Given the description of an element on the screen output the (x, y) to click on. 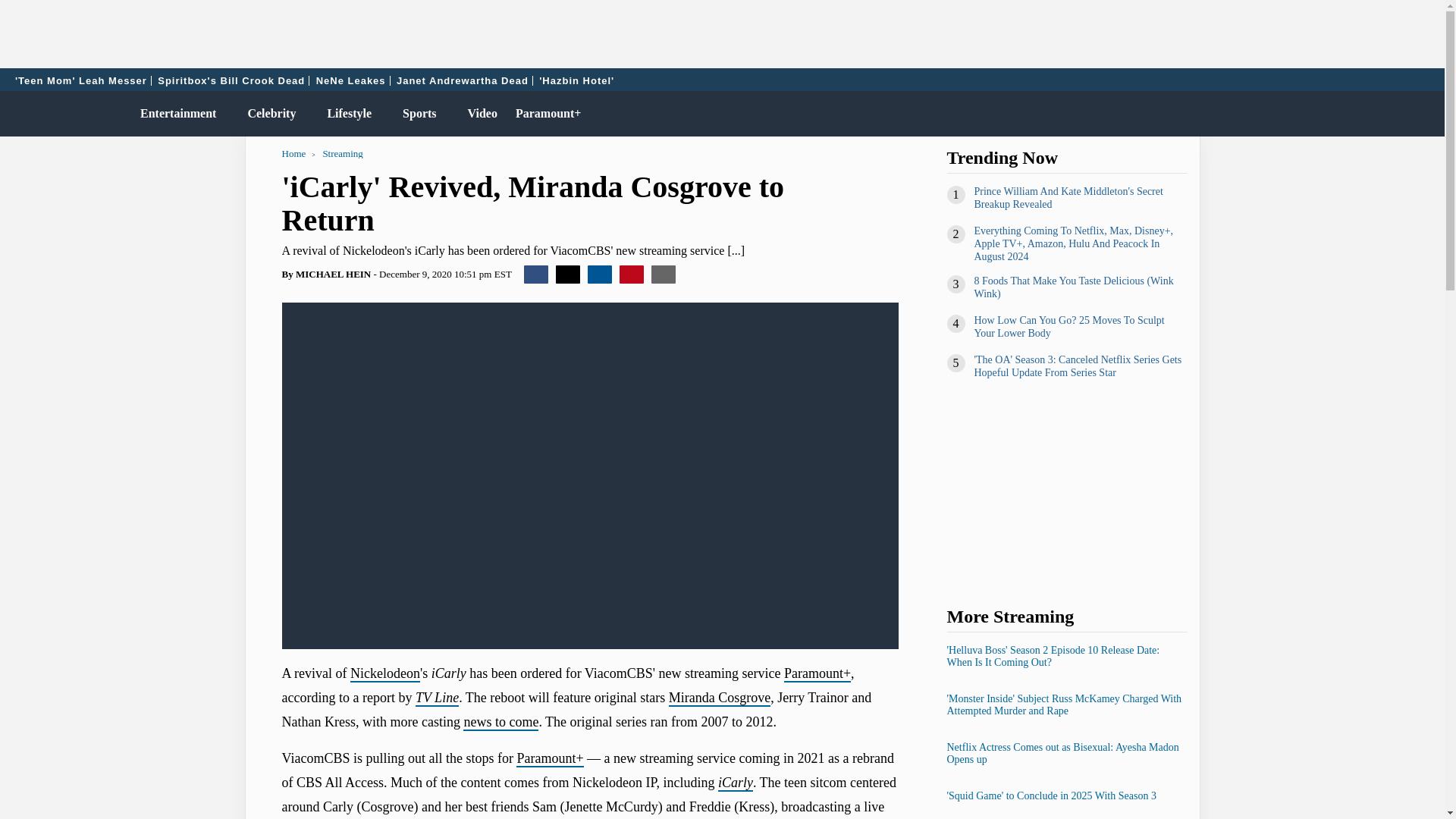
Lifestyle (345, 113)
'Teen Mom' Leah Messer (81, 80)
Video (479, 113)
Search (1426, 114)
Celebrity (267, 113)
NeNe Leakes (351, 80)
Entertainment (175, 113)
Sports (416, 113)
Spiritbox's Bill Crook Dead (231, 80)
Janet Andrewartha Dead (462, 80)
'Hazbin Hotel' (576, 80)
Dark Mode (1394, 113)
